Given the description of an element on the screen output the (x, y) to click on. 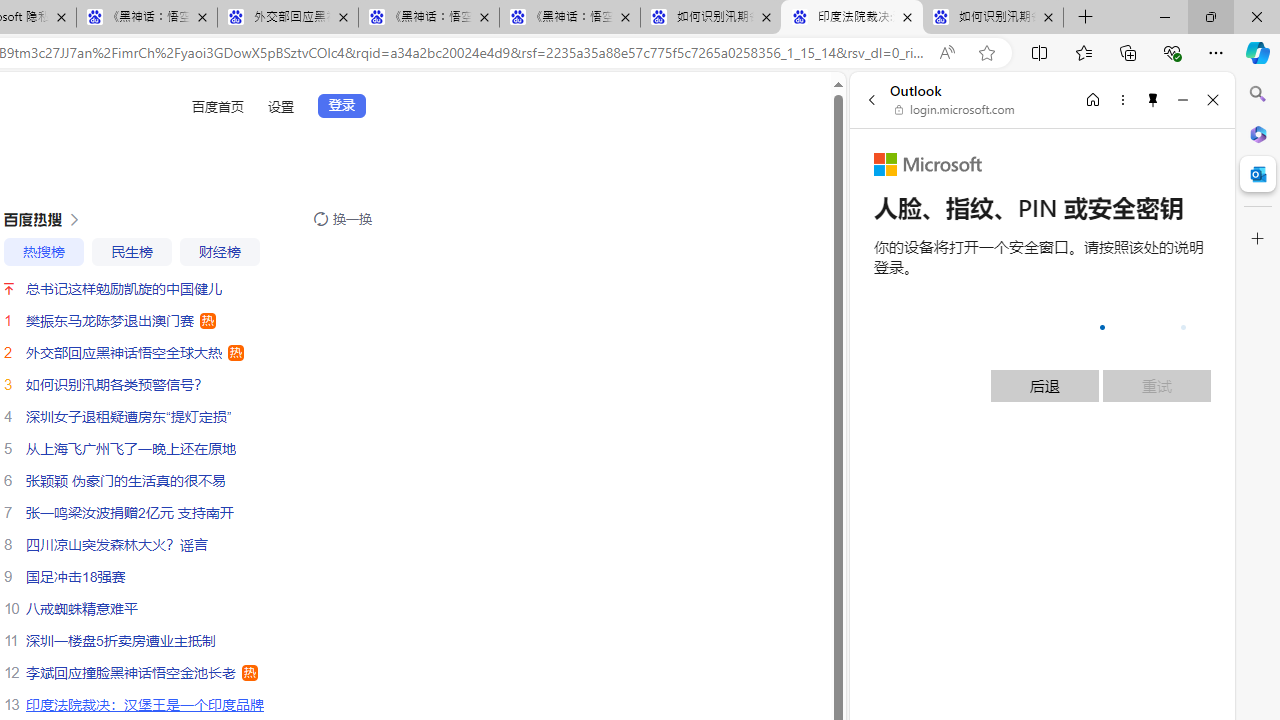
Microsoft (927, 164)
login.microsoft.com (955, 110)
